Given the description of an element on the screen output the (x, y) to click on. 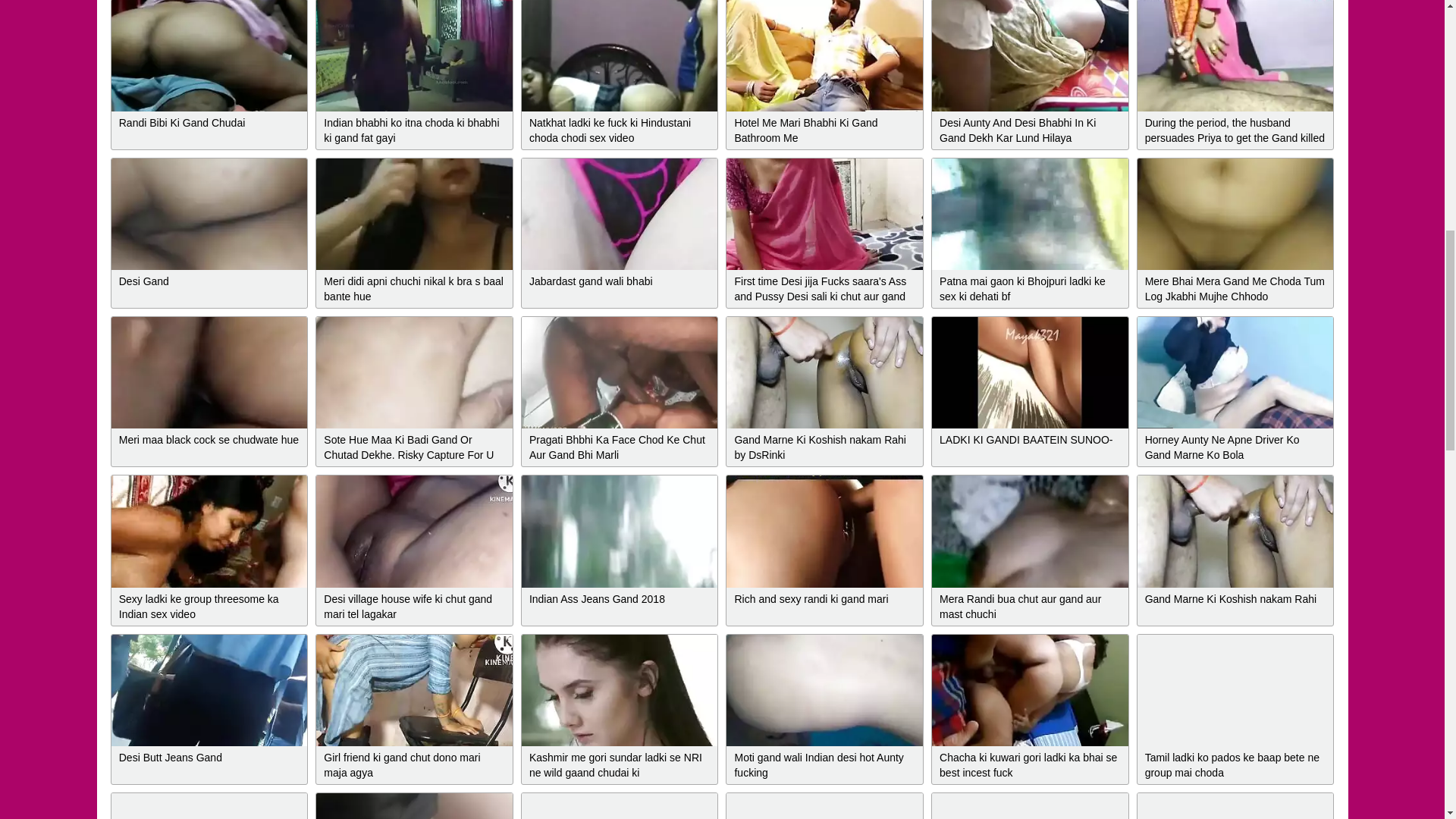
Gand Marne Ki Koshish nakam Rahi by DsRinki (824, 372)
Pragati Bhbhi Ka Face Chod Ke Chut Aur Gand Bhi Marli (619, 372)
Mere Bhai Mera Gand Me Choda Tum Log Jkabhi Mujhe Chhodo (1235, 214)
Meri didi apni chuchi nikal k bra s baal bante hue (413, 214)
Hotel Me Mari Bhabhi Ki Gand Bathroom Me (824, 55)
Randi Bibi Ki Gand Chudai (209, 55)
Indian bhabhi ko itna choda ki bhabhi ki gand fat gayi (413, 55)
Jabardast gand wali bhabi (619, 214)
Meri maa black cock se chudwate hue (209, 372)
